Given the description of an element on the screen output the (x, y) to click on. 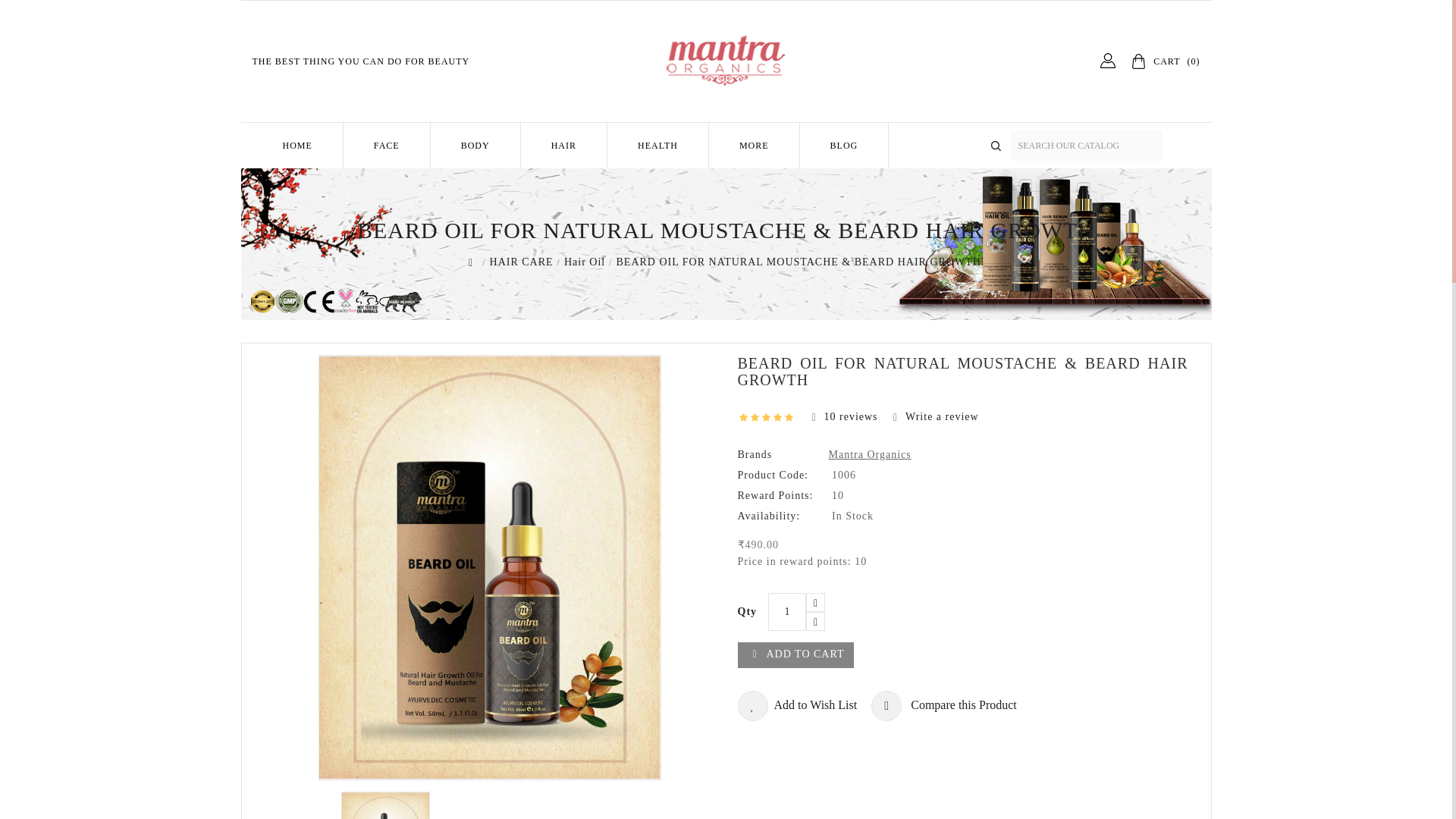
Face Wash (435, 176)
1 (787, 611)
Hair Conditioner (617, 176)
Face Serum (435, 176)
Face Mist Spray (442, 176)
Hair Shampoo (617, 176)
Hair Serum (614, 176)
Body Massage Oil (542, 176)
Mantra Organics and Naturals (725, 61)
Body Wash (516, 176)
Hair Oil (599, 176)
Hand Made Soaps (529, 176)
Face Cream (427, 176)
Body Lotion (523, 176)
